Given the description of an element on the screen output the (x, y) to click on. 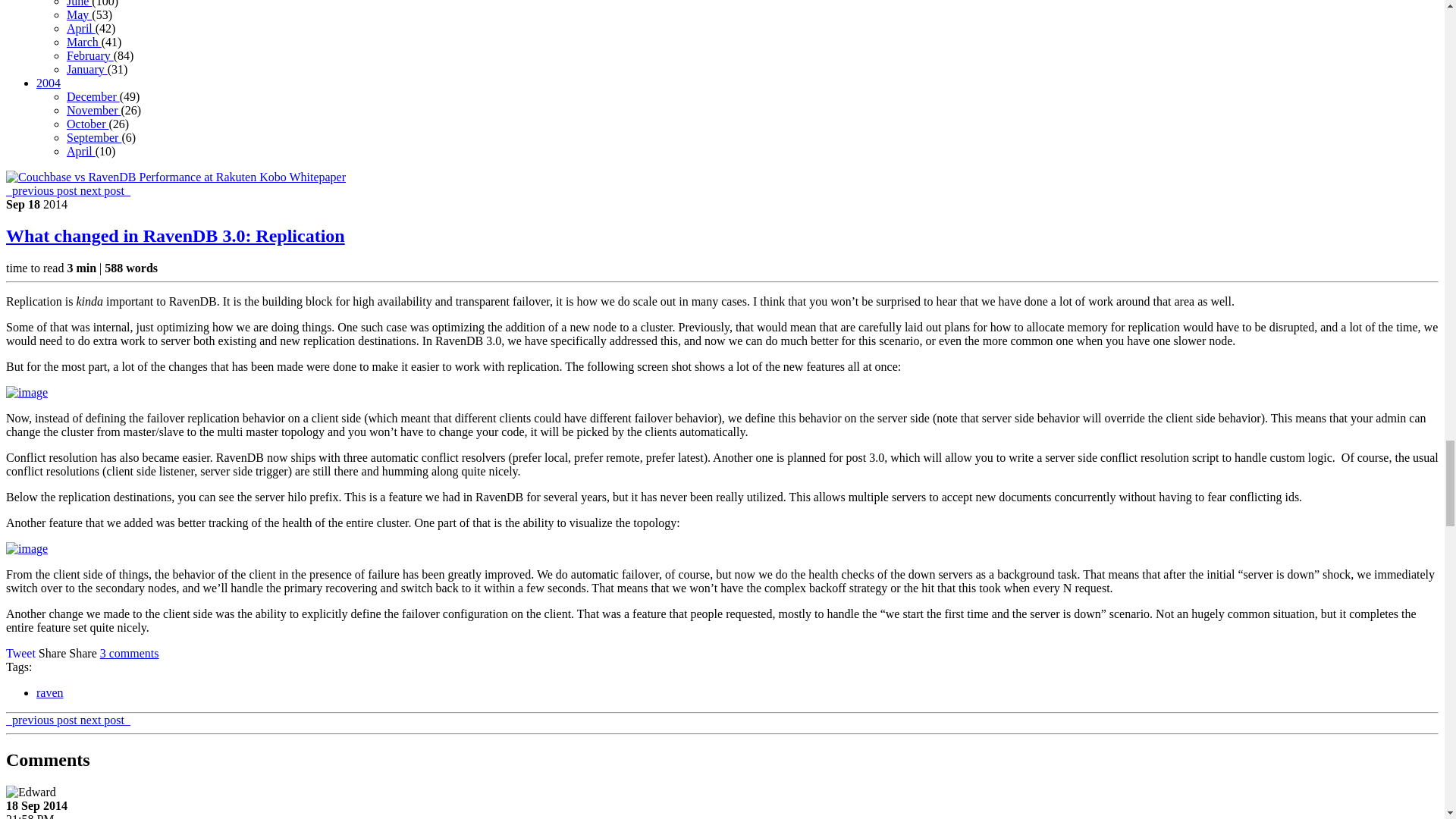
image (26, 392)
Couchbase vs RavenDB Performance at Rakuten Kobo Whitepaper (175, 177)
image (26, 549)
